Given the description of an element on the screen output the (x, y) to click on. 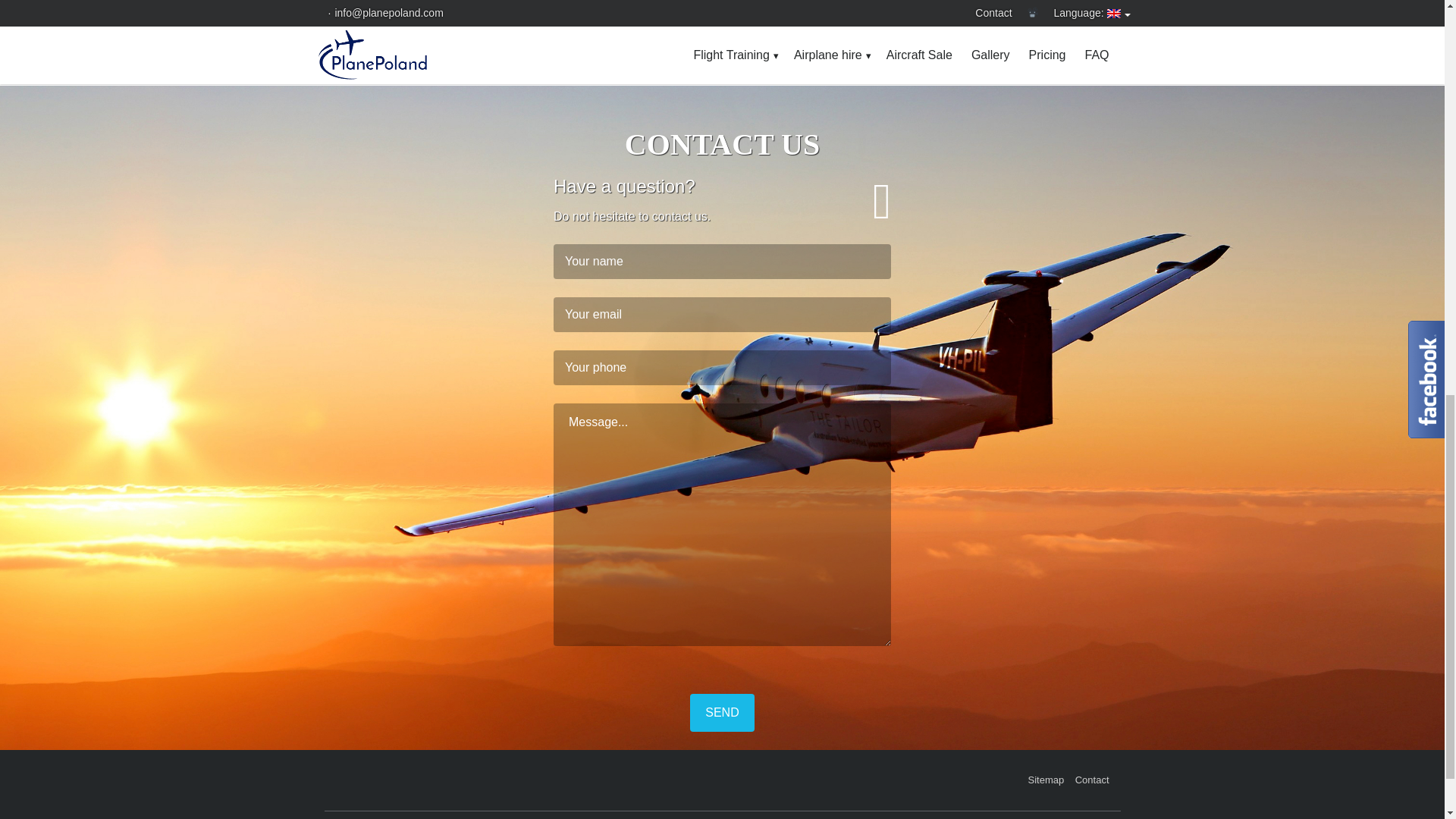
Send (722, 712)
